Given the description of an element on the screen output the (x, y) to click on. 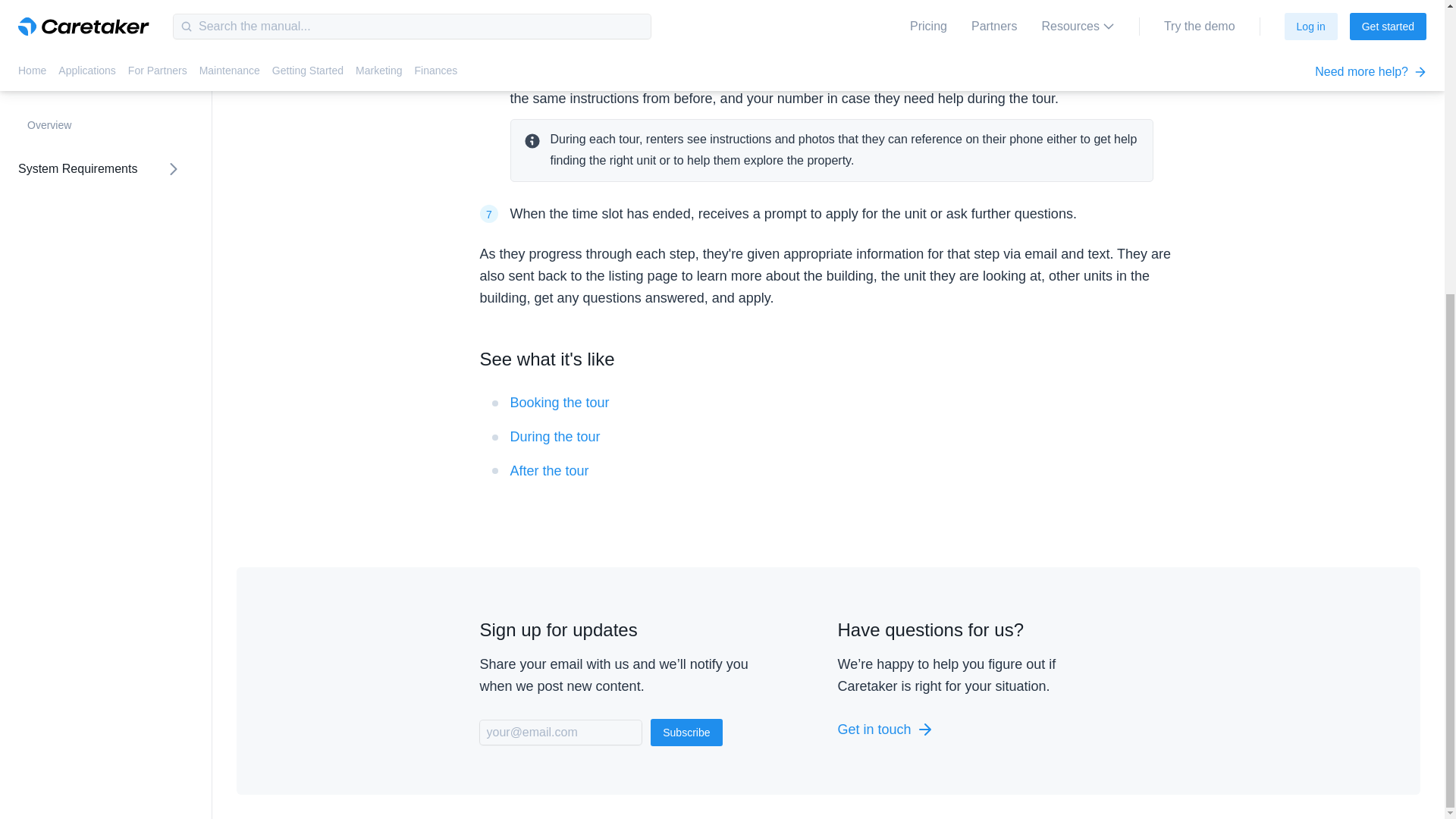
Get in touch (976, 729)
During the tour (554, 436)
instructions for how to get inside (795, 7)
Booking the tour (558, 402)
Subscribe (686, 732)
After the tour (548, 470)
